Given the description of an element on the screen output the (x, y) to click on. 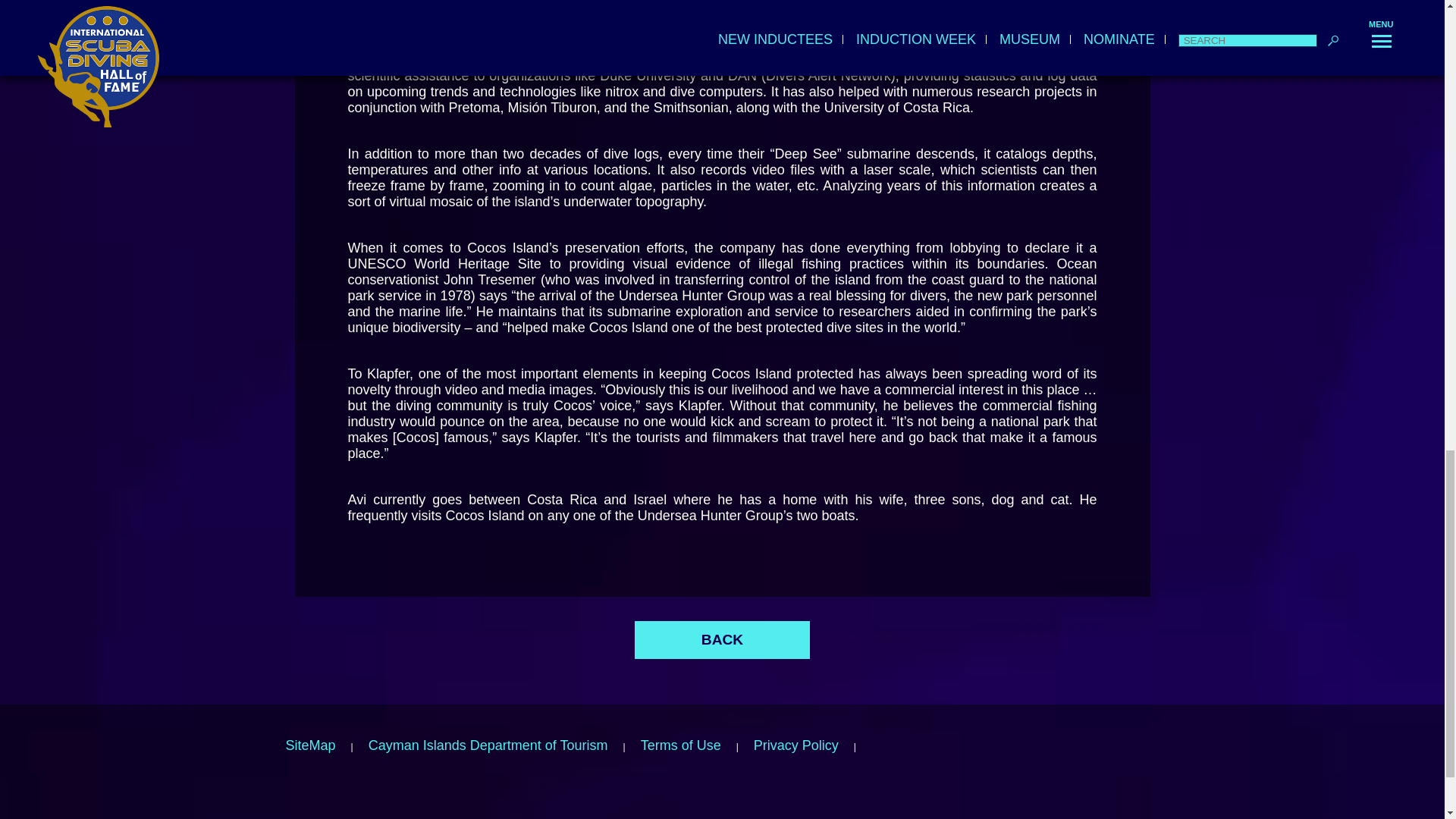
Terms of Use (680, 744)
BACK (721, 639)
SiteMap (309, 744)
Privacy Policy (796, 744)
Cayman Islands Department of Tourism (488, 744)
